Given the description of an element on the screen output the (x, y) to click on. 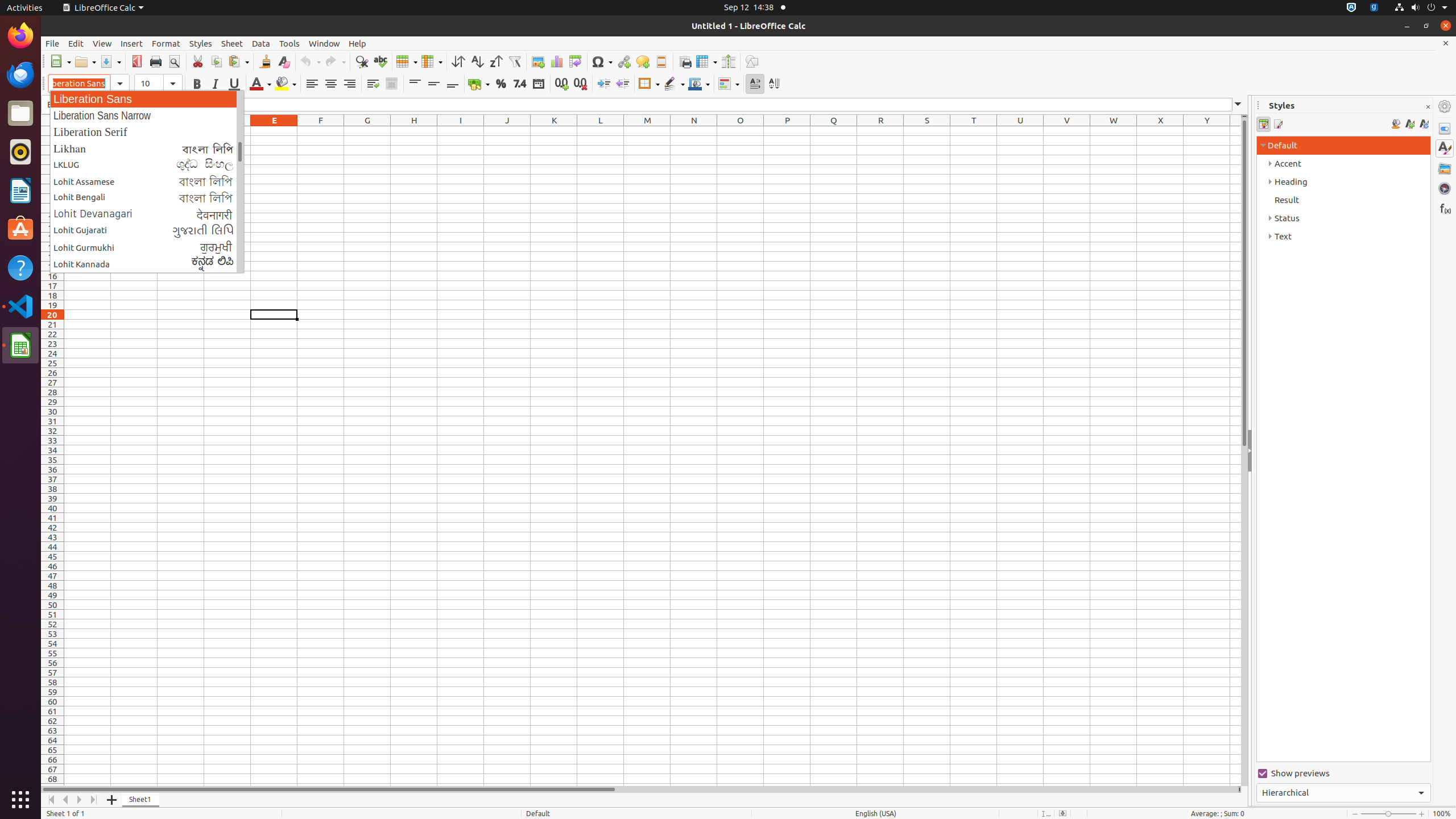
Move Right Element type: push-button (79, 799)
Draw Functions Element type: toggle-button (751, 61)
Conditional Element type: push-button (728, 83)
LibreOffice Writer Element type: push-button (20, 190)
View Element type: menu (102, 43)
